Given the description of an element on the screen output the (x, y) to click on. 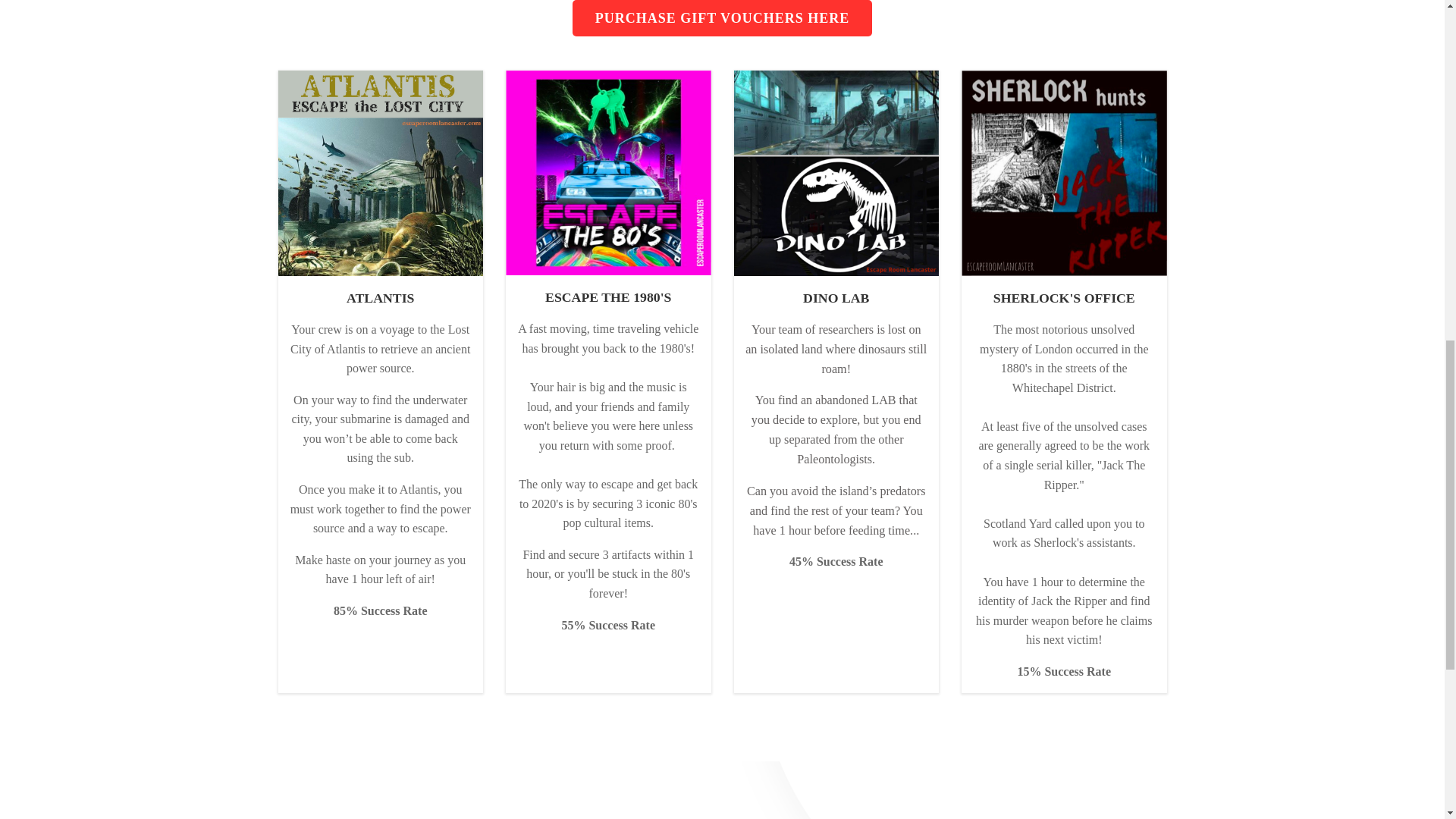
PURCHASE GIFT VOUCHERS HERE (722, 18)
